Given the description of an element on the screen output the (x, y) to click on. 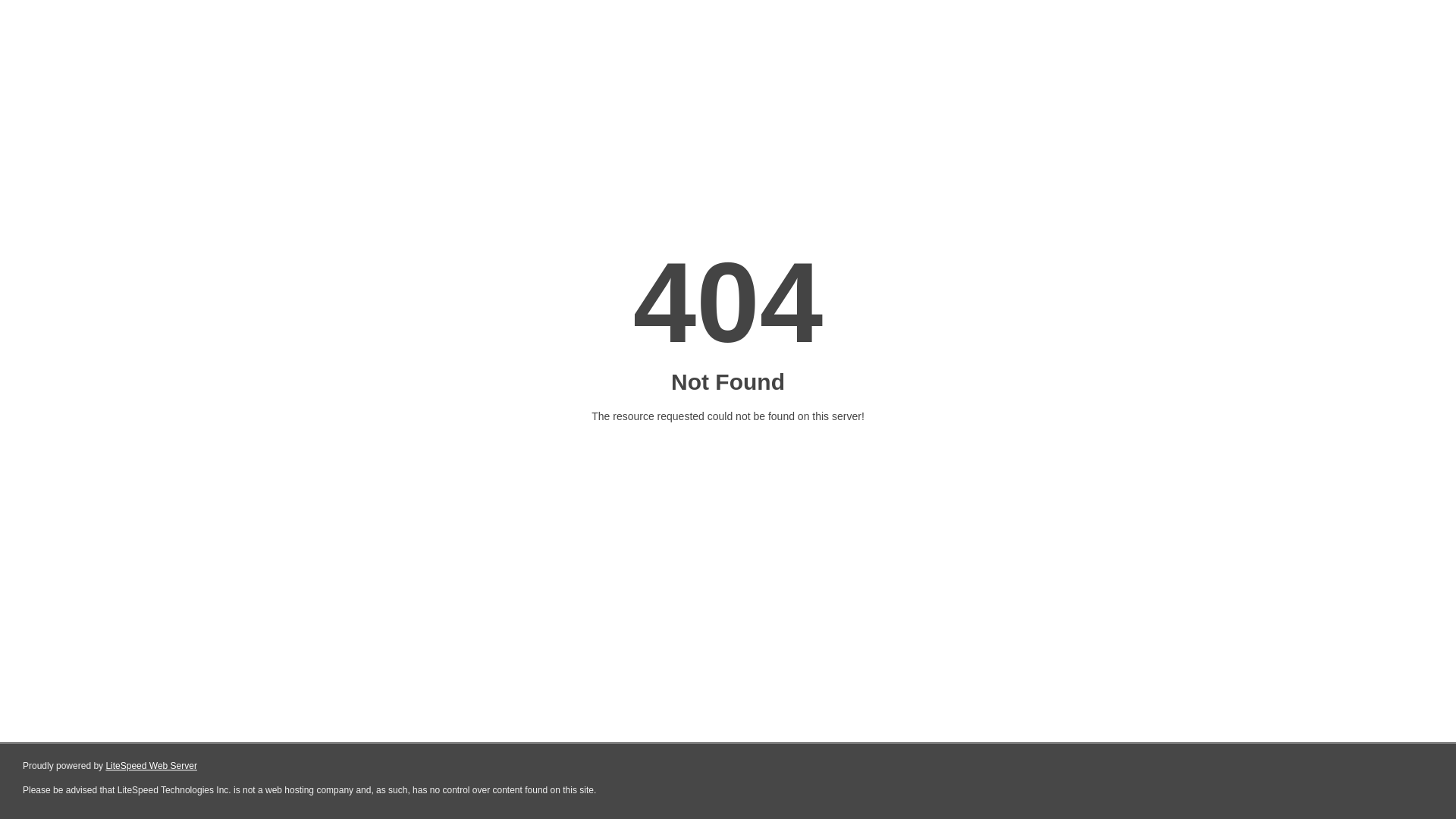
LiteSpeed Web Server Element type: text (151, 765)
